Given the description of an element on the screen output the (x, y) to click on. 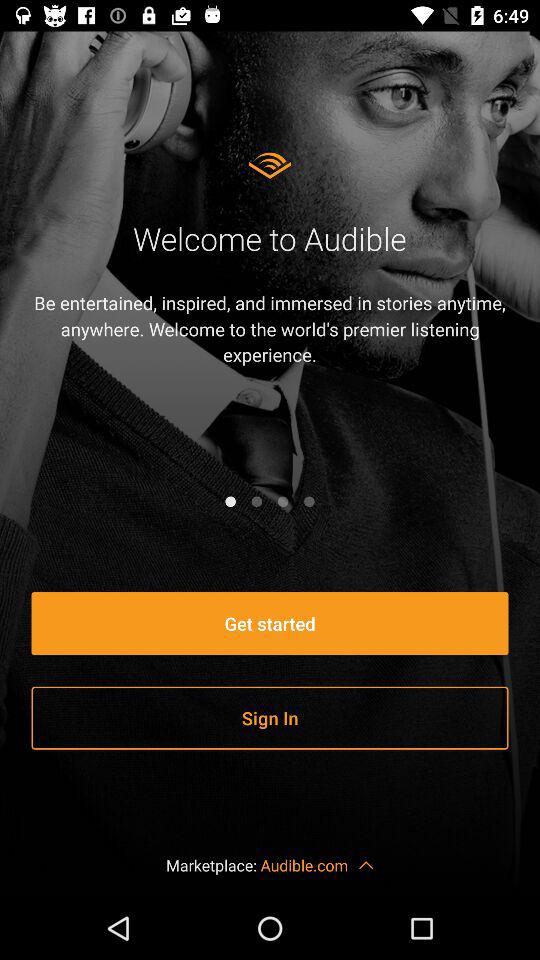
select slide (283, 501)
